Given the description of an element on the screen output the (x, y) to click on. 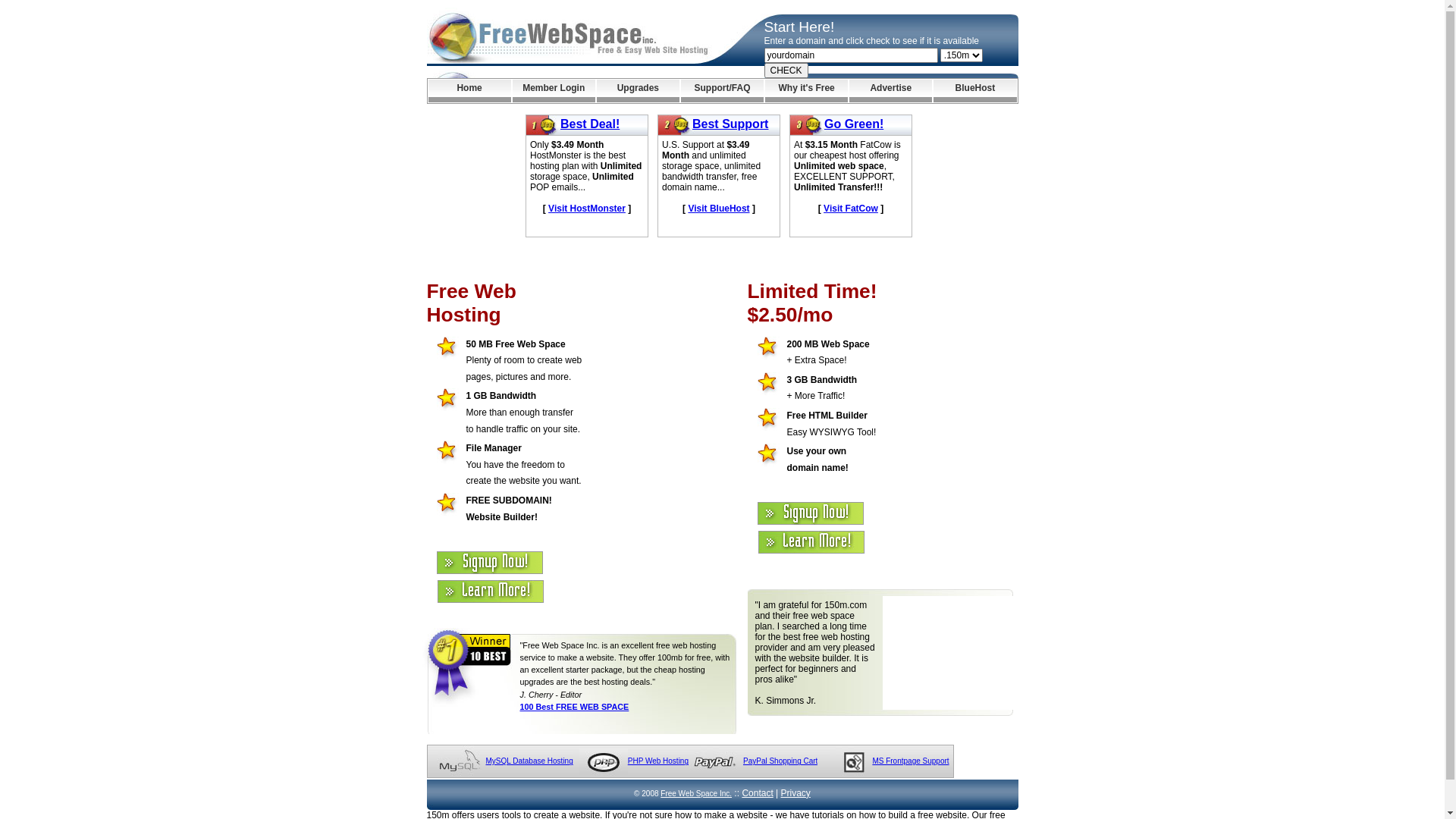
Support/FAQ Element type: text (721, 90)
Home Element type: text (468, 90)
Why it's Free Element type: text (806, 90)
CHECK Element type: text (786, 70)
Free Web Space Inc. Element type: text (695, 793)
Advertise Element type: text (890, 90)
BlueHost Element type: text (974, 90)
Upgrades Element type: text (637, 90)
PHP Web Hosting Element type: text (657, 760)
PayPal Shopping Cart Element type: text (780, 760)
100 Best FREE WEB SPACE Element type: text (574, 706)
Privacy Element type: text (795, 792)
Contact Element type: text (756, 792)
Member Login Element type: text (553, 90)
MySQL Database Hosting Element type: text (528, 760)
MS Frontpage Support Element type: text (910, 760)
